Given the description of an element on the screen output the (x, y) to click on. 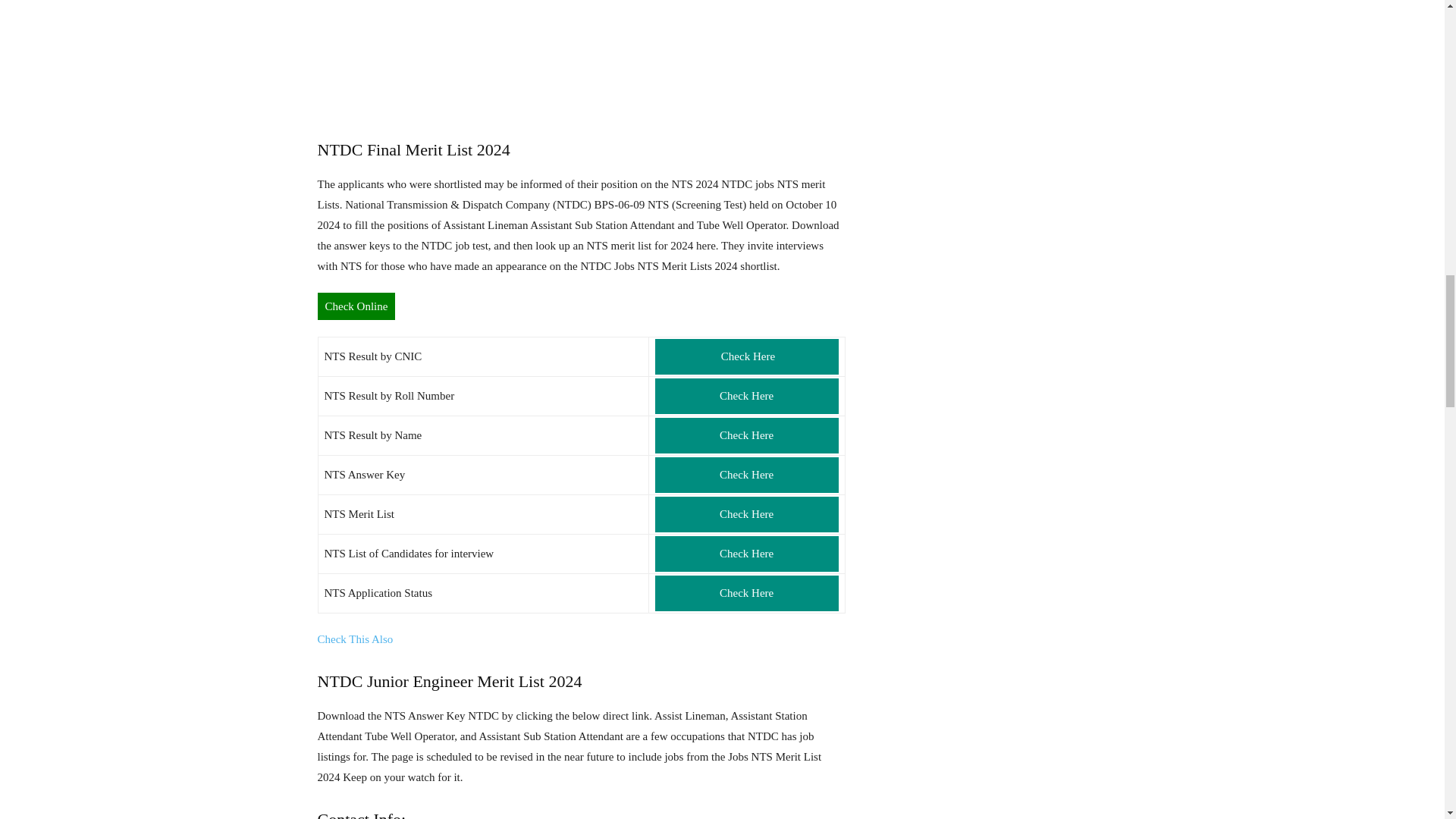
Check Here (746, 553)
Check Online (355, 306)
Check Here (746, 396)
Check Here (746, 514)
Check This Also (355, 639)
Check Here (746, 475)
 Check Here (746, 356)
Check Here (746, 435)
Check Here (746, 592)
